Given the description of an element on the screen output the (x, y) to click on. 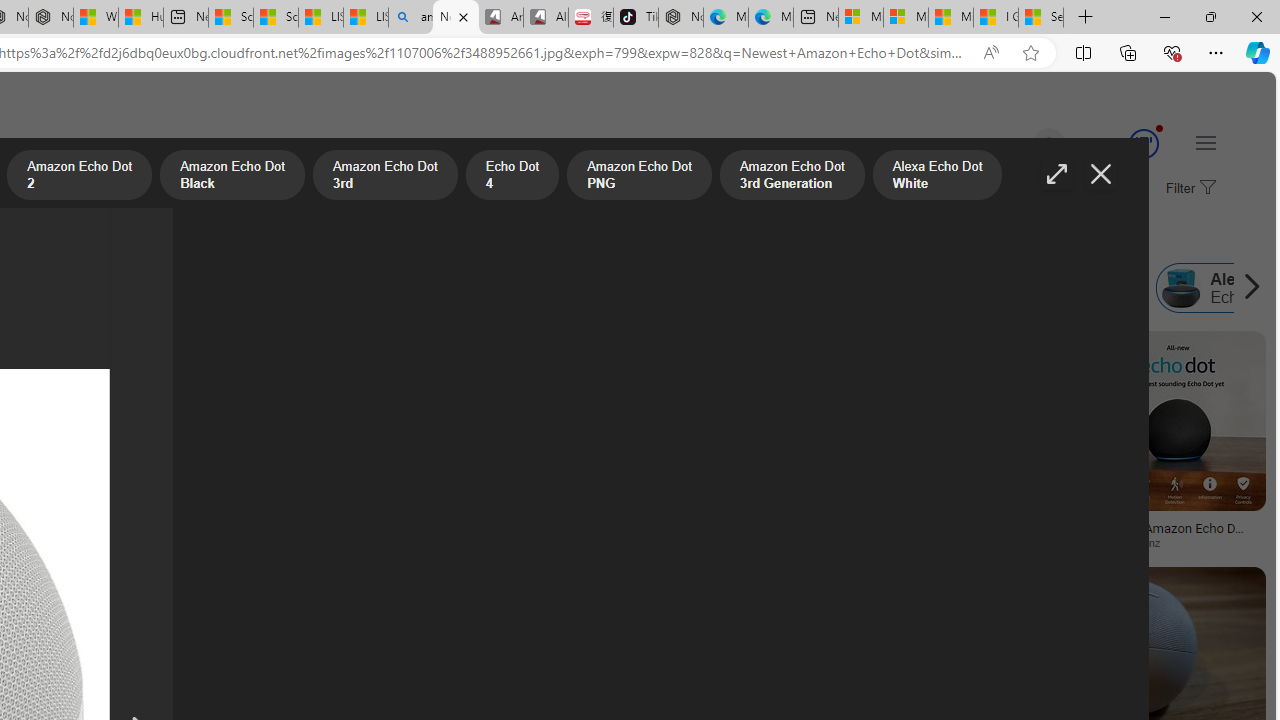
Echo Dot 4 (82, 287)
amazon.com.au (691, 542)
Alexa Echo Dot White (610, 287)
Amazon Echo Box (803, 287)
Review: SkyBell HD (209, 542)
Alex Echo Dot (1181, 287)
Image result for Newest Amazon Echo Dot (1177, 421)
Amazon Echo Dot PNG (263, 287)
